Given the description of an element on the screen output the (x, y) to click on. 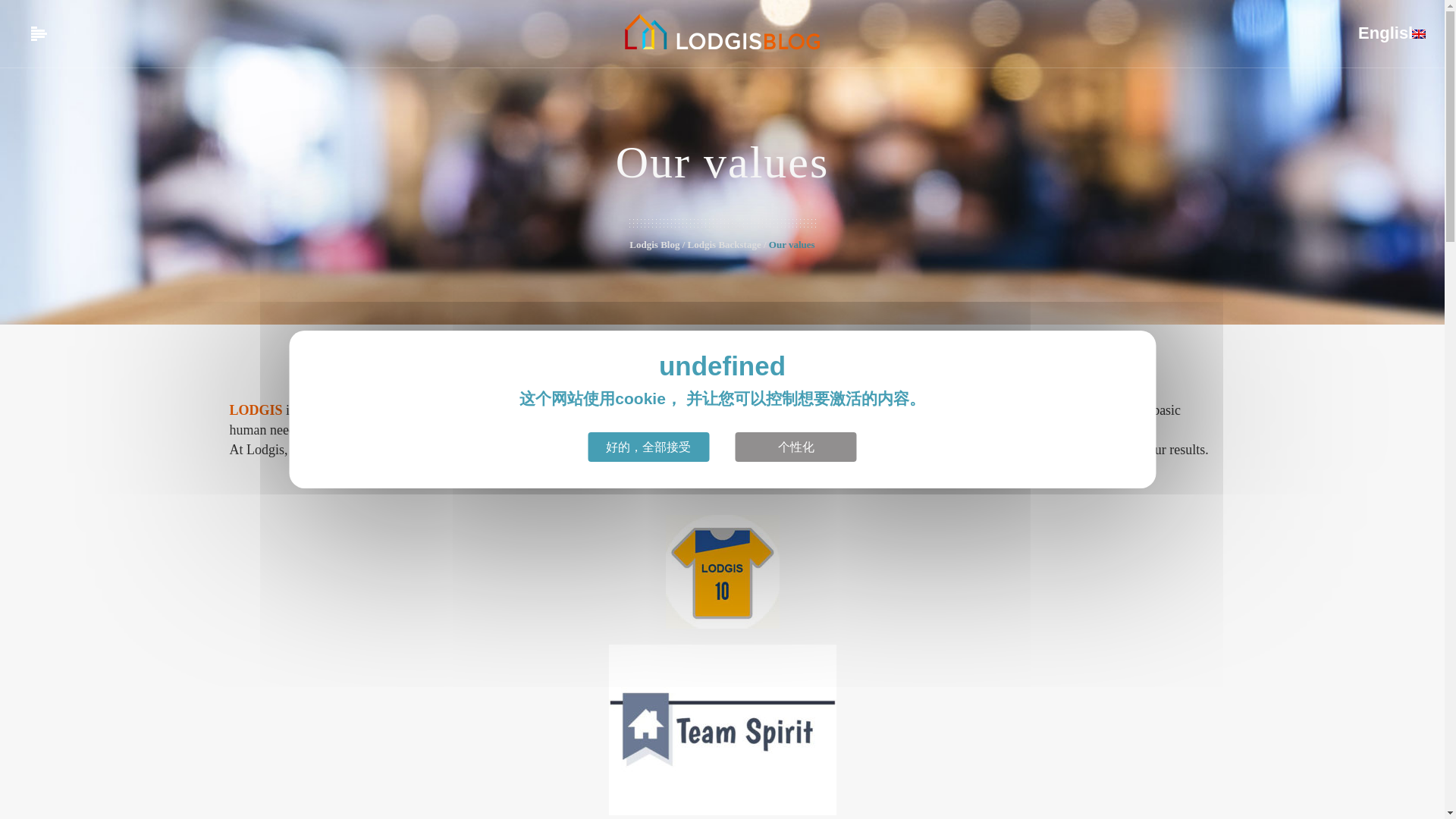
Lodgis Blog (869, 244)
English (1418, 33)
Lodgis Backstage (889, 244)
 English (1388, 34)
